Given the description of an element on the screen output the (x, y) to click on. 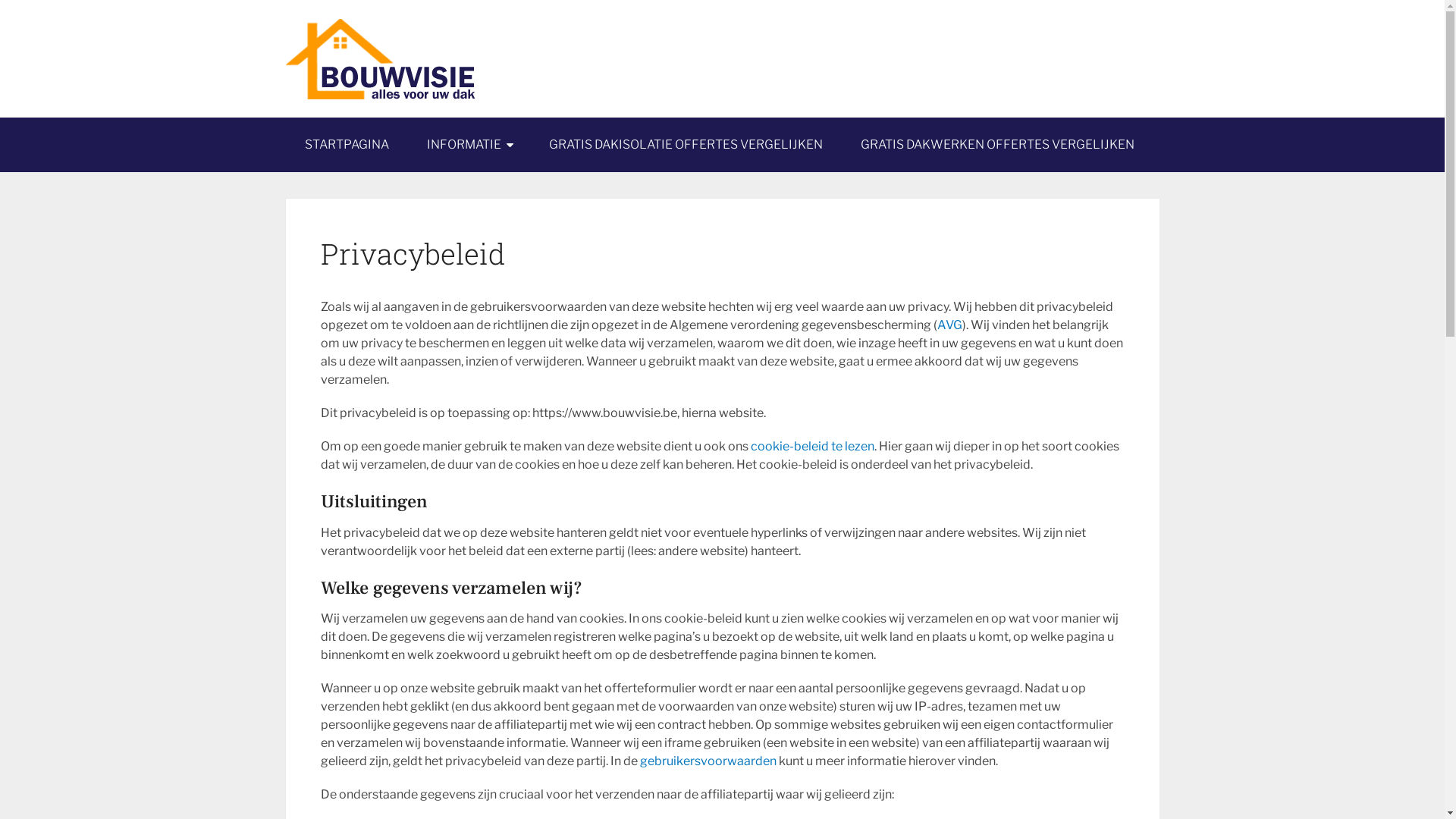
gebruikersvoorwaarden Element type: text (708, 760)
GRATIS DAKISOLATIE OFFERTES VERGELIJKEN Element type: text (684, 144)
AVG Element type: text (949, 324)
cookie-beleid te lezen Element type: text (812, 446)
INFORMATIE Element type: text (468, 144)
GRATIS DAKWERKEN OFFERTES VERGELIJKEN Element type: text (997, 144)
STARTPAGINA Element type: text (346, 144)
